Given the description of an element on the screen output the (x, y) to click on. 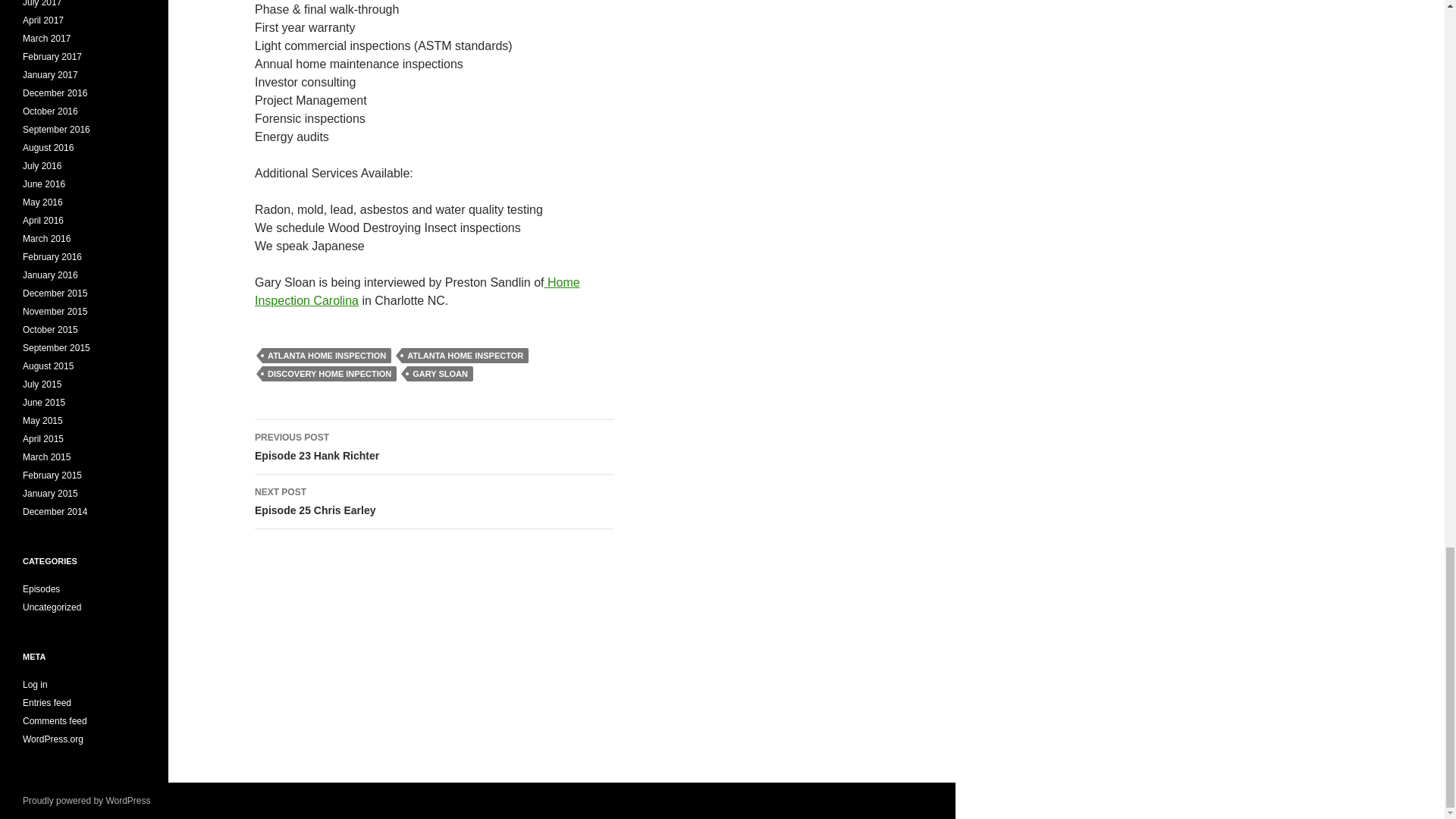
ATLANTA HOME INSPECTOR (464, 355)
DISCOVERY HOME INPECTION (434, 447)
Home Inspection Carolina (329, 373)
GARY SLOAN (416, 291)
ATLANTA HOME INSPECTION (440, 373)
